Given the description of an element on the screen output the (x, y) to click on. 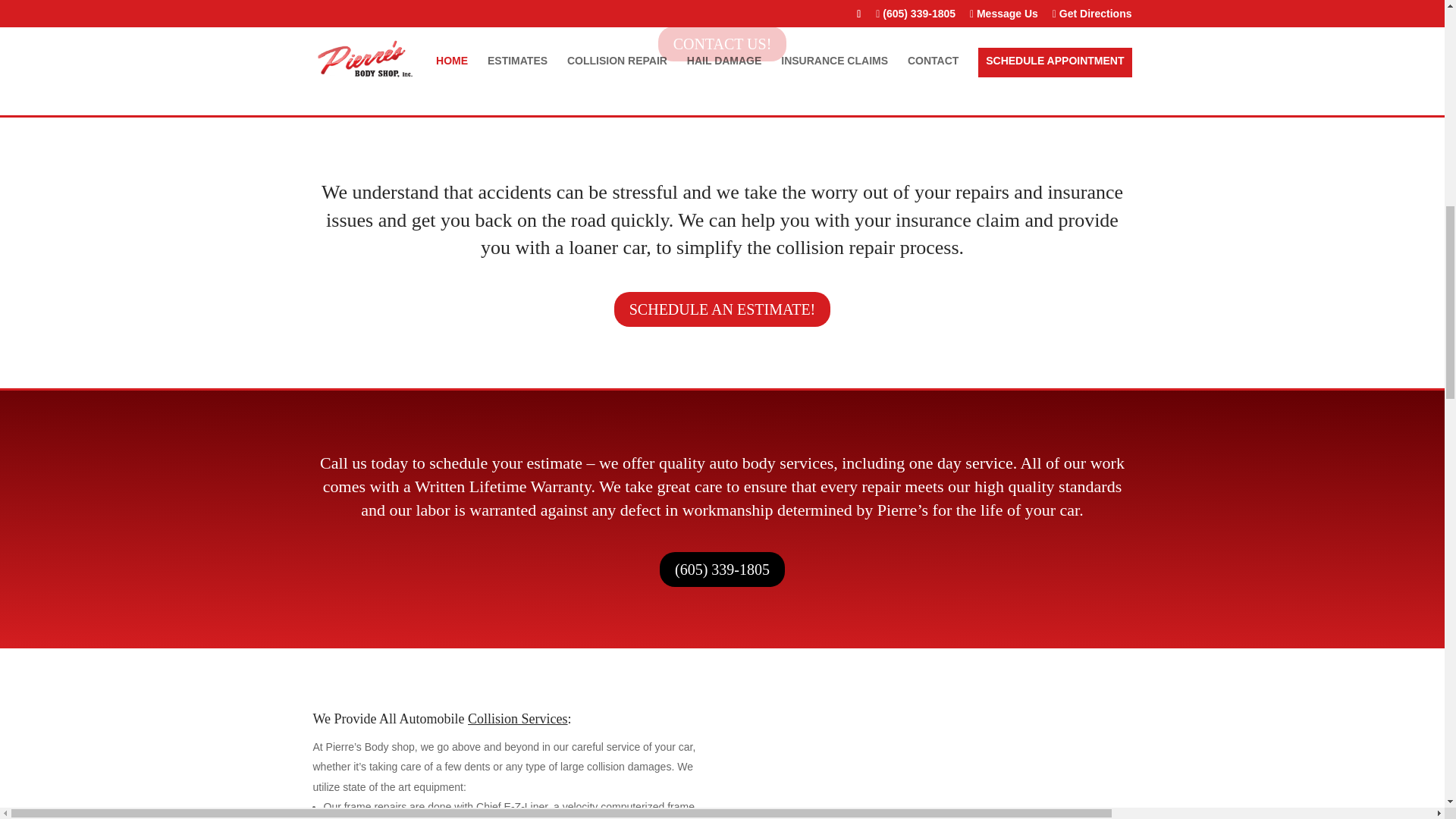
CONTACT US! (722, 43)
Collision Services (517, 718)
SCHEDULE AN ESTIMATE! (722, 308)
